Given the description of an element on the screen output the (x, y) to click on. 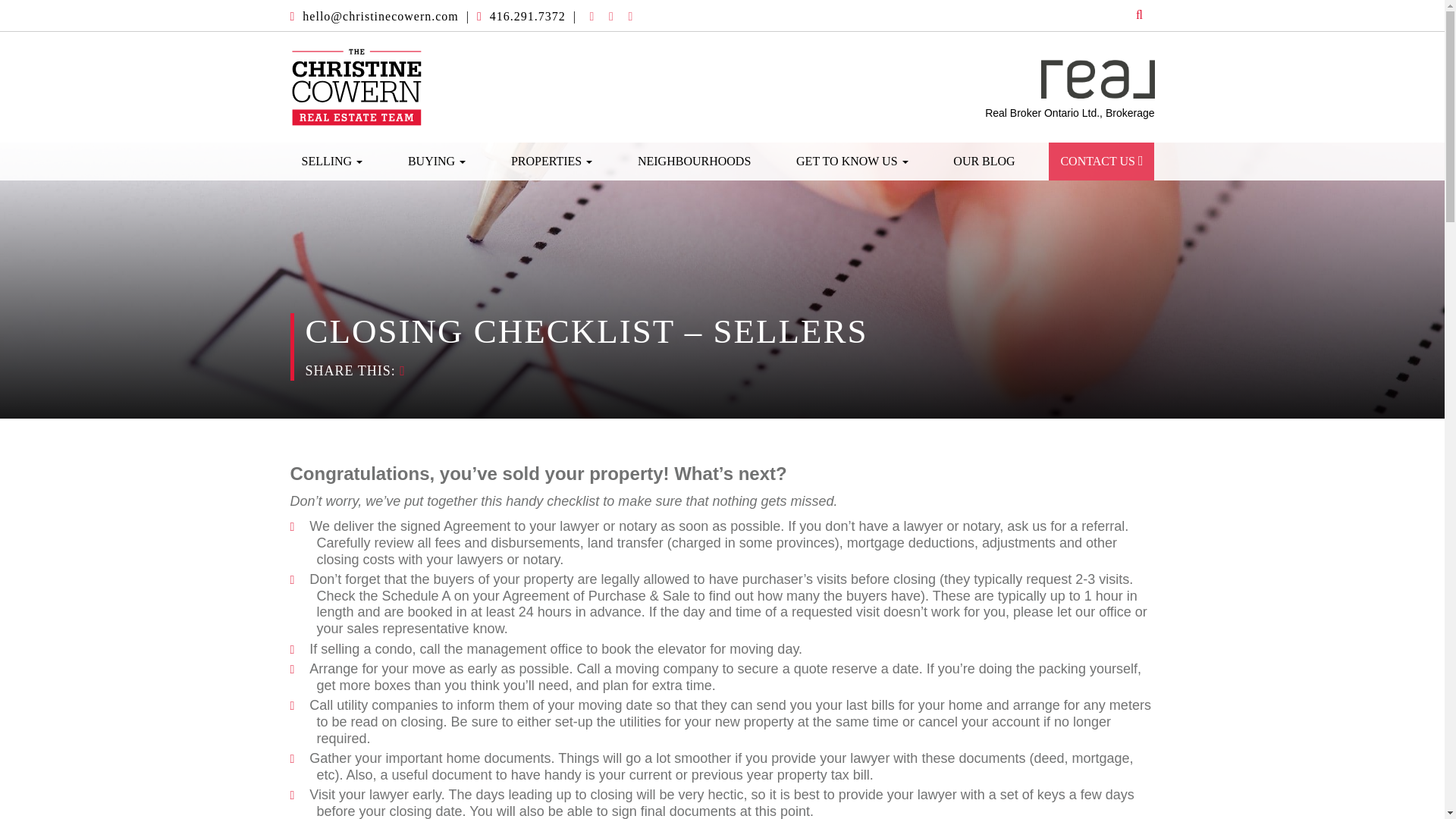
GET TO KNOW US (852, 161)
PROPERTIES (551, 161)
416.291.7372 (527, 15)
BUYING (436, 161)
The Christine Cowern Team (355, 86)
Search for: (1125, 15)
SELLING (331, 161)
NEIGHBOURHOODS (693, 161)
CONTACT US (1101, 161)
OUR BLOG (984, 161)
